Given the description of an element on the screen output the (x, y) to click on. 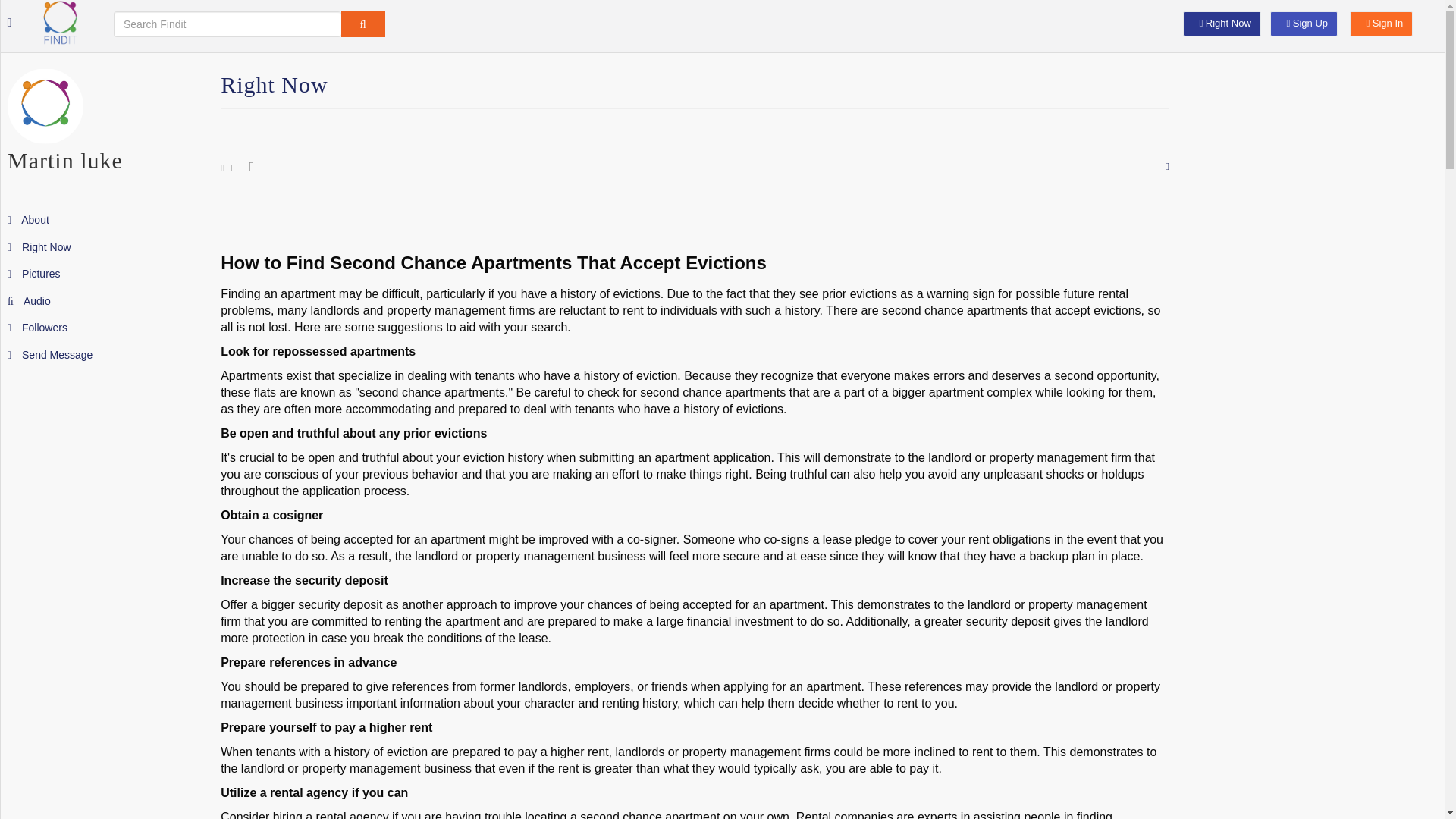
Right Now (39, 246)
Audio (28, 300)
Send Message (50, 354)
Pictures (34, 273)
Sign In (1380, 23)
Followers (36, 327)
Sign Up (1303, 23)
About (28, 219)
Right Now (1221, 23)
